Given the description of an element on the screen output the (x, y) to click on. 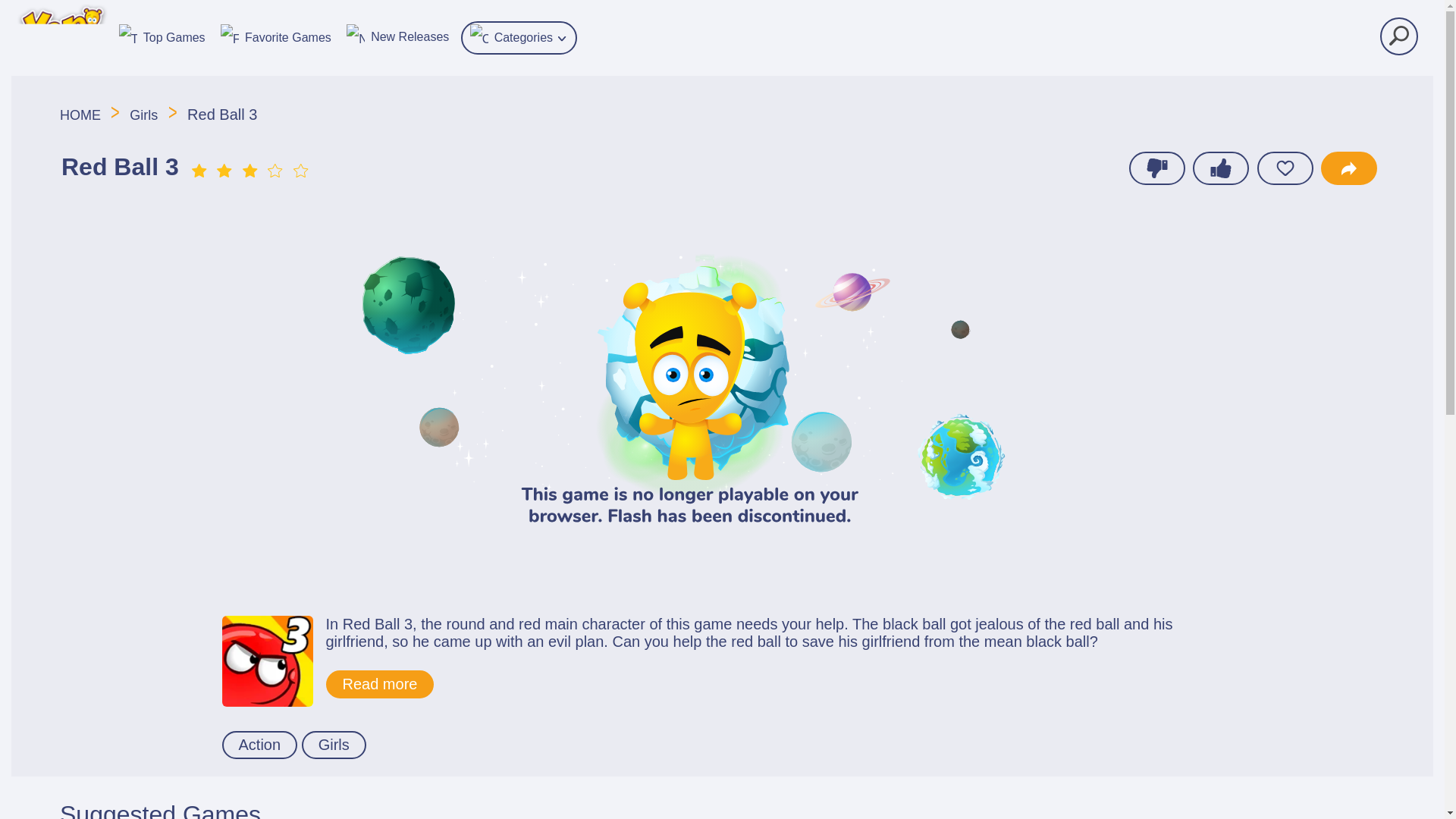
Action (259, 745)
Top Games (162, 35)
HOME (81, 114)
New Releases (397, 35)
Girls (333, 745)
Favorite Games (275, 35)
Categories (518, 37)
Girls (143, 114)
